Given the description of an element on the screen output the (x, y) to click on. 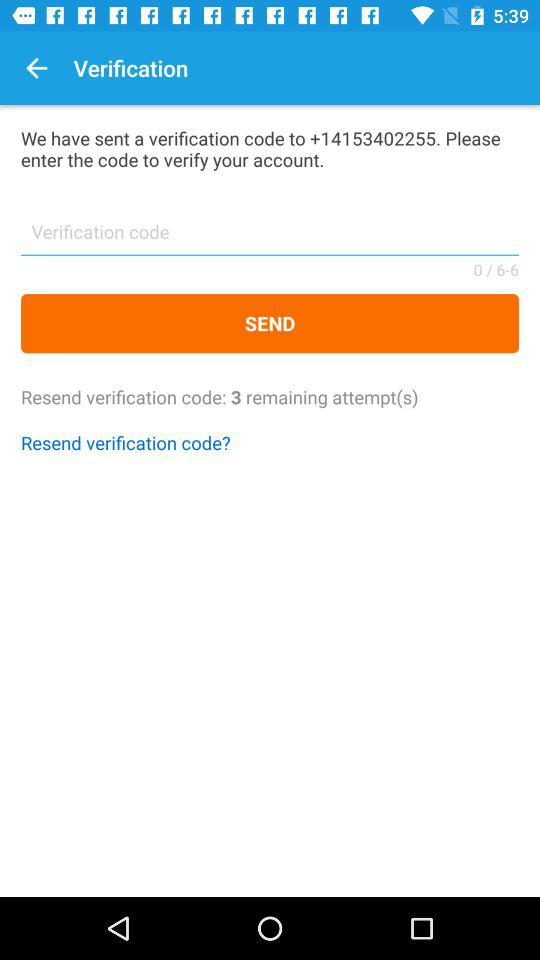
choose the item below we have sent icon (270, 238)
